Given the description of an element on the screen output the (x, y) to click on. 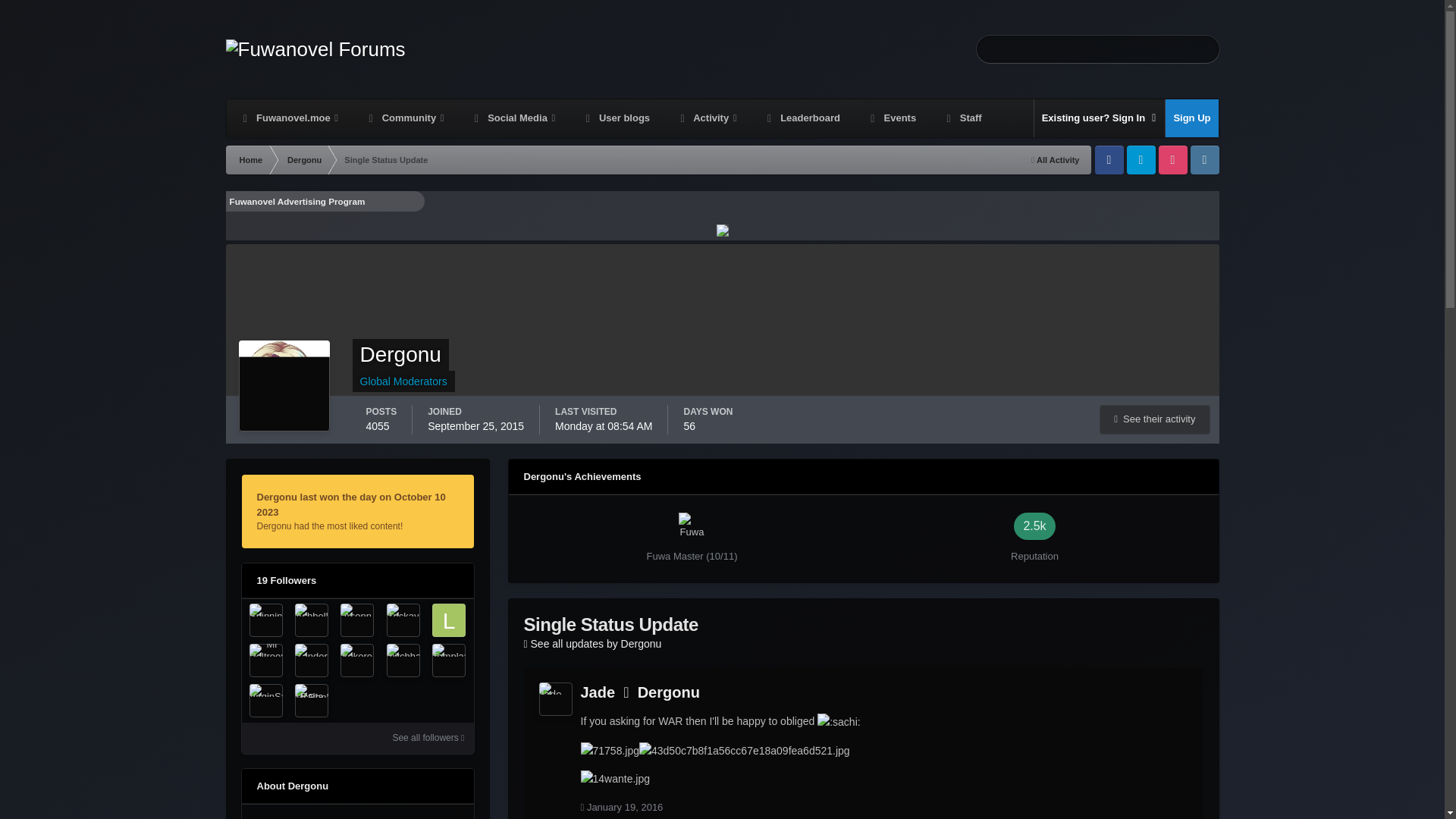
Ashbell (312, 619)
Leaderboard (802, 118)
User blogs (616, 118)
Social Media (513, 118)
Home (250, 159)
Go to Asonn's profile (357, 620)
Dergonu's Content (1154, 419)
Community (405, 118)
Trickay (402, 619)
